Given the description of an element on the screen output the (x, y) to click on. 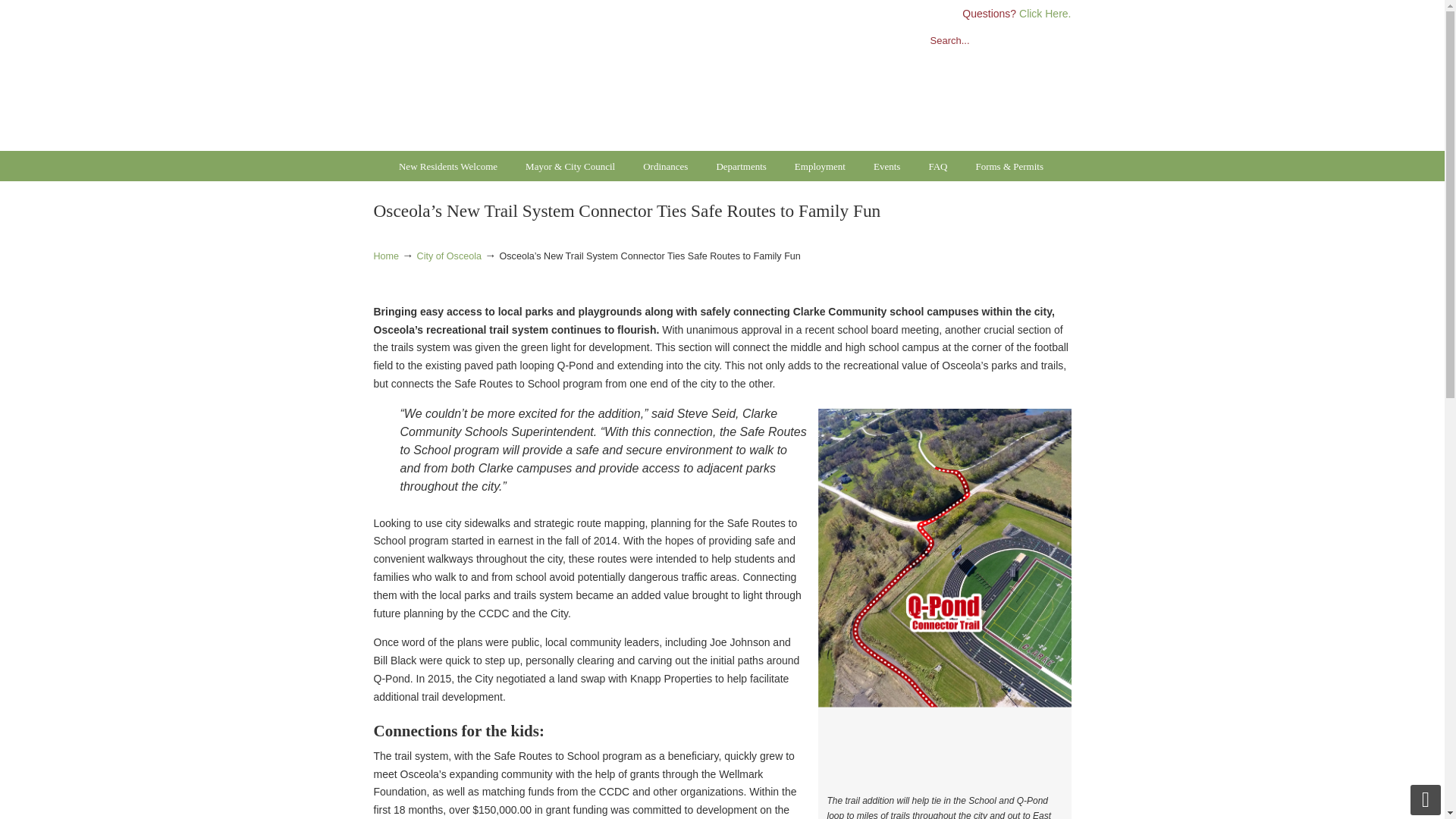
City of Osceola (448, 255)
search (1055, 40)
Ordinances (665, 166)
Departments (740, 166)
search (1055, 40)
Home (385, 255)
Search... (978, 40)
search (1055, 40)
New Residents Welcome (448, 166)
FAQ (937, 166)
